Given the description of an element on the screen output the (x, y) to click on. 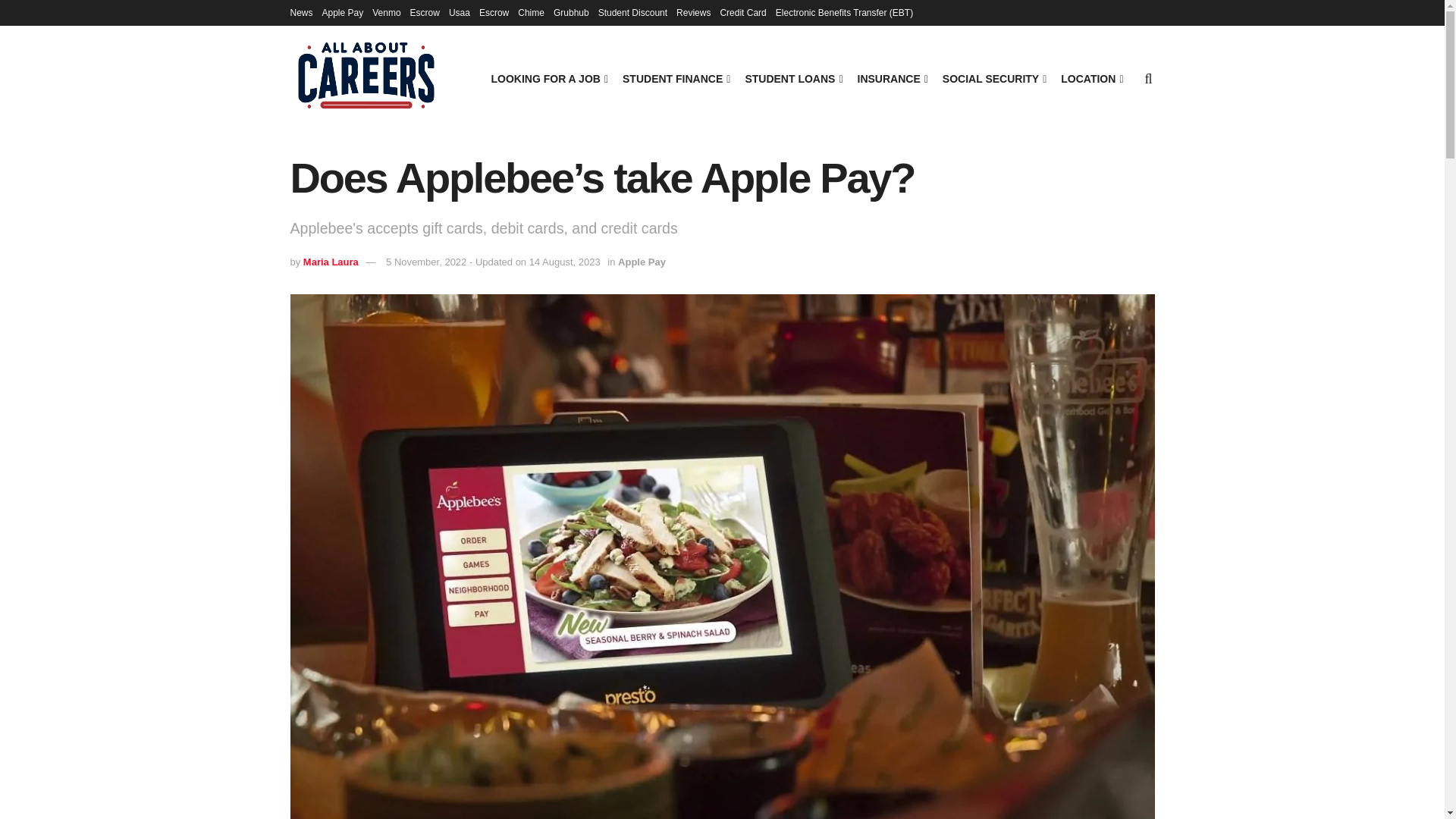
LOOKING FOR A JOB (547, 78)
Grubhub (571, 12)
Apple Pay (342, 12)
Escrow (493, 12)
Credit Card (742, 12)
Reviews (693, 12)
Venmo (386, 12)
Student Discount (632, 12)
STUDENT FINANCE (675, 78)
Chime (531, 12)
Escrow (424, 12)
